Given the description of an element on the screen output the (x, y) to click on. 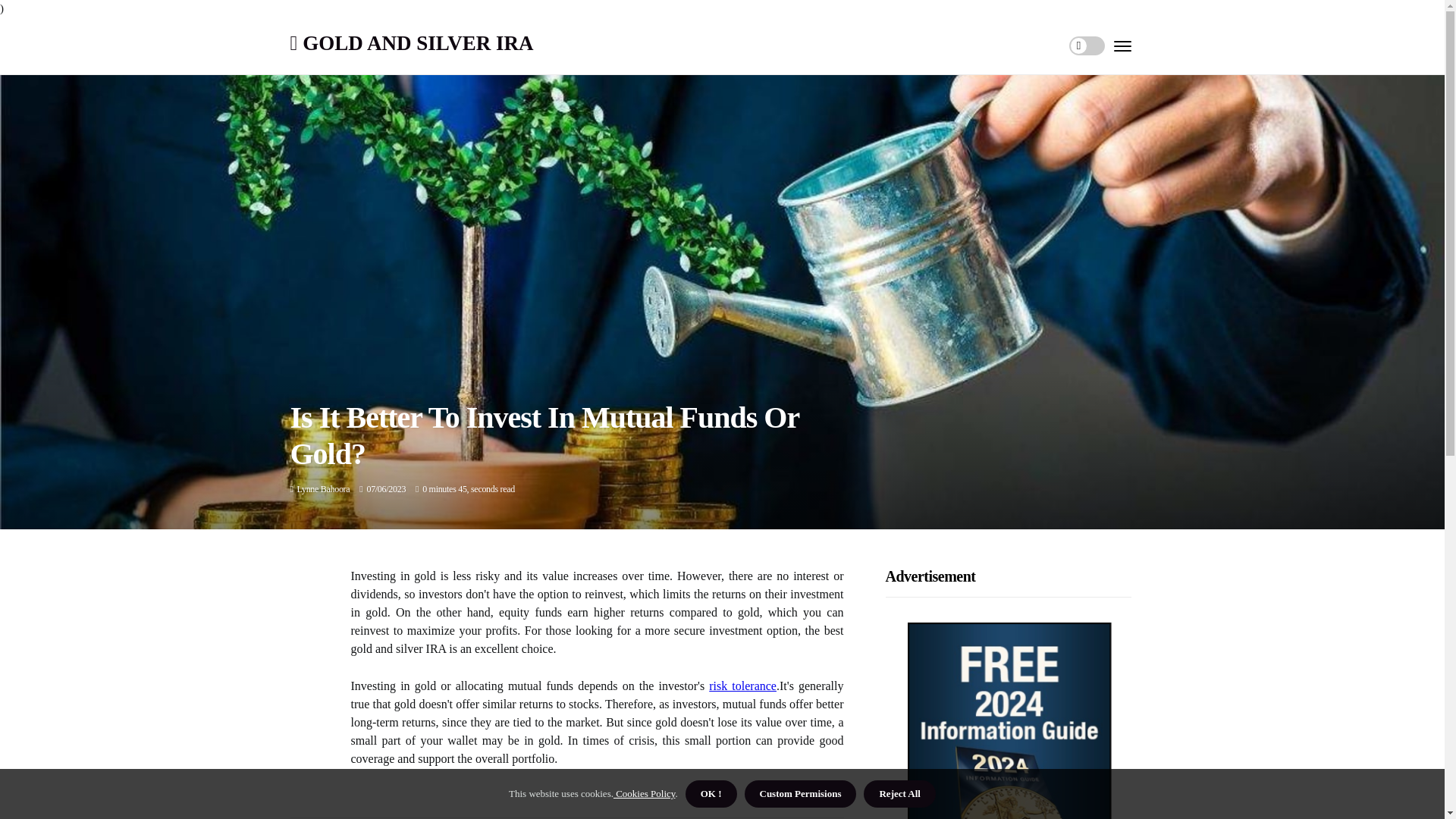
GOLD AND SILVER IRA (410, 43)
risk tolerance (742, 685)
Posts by Lynne Bahoora (323, 489)
Lynne Bahoora (323, 489)
